Given the description of an element on the screen output the (x, y) to click on. 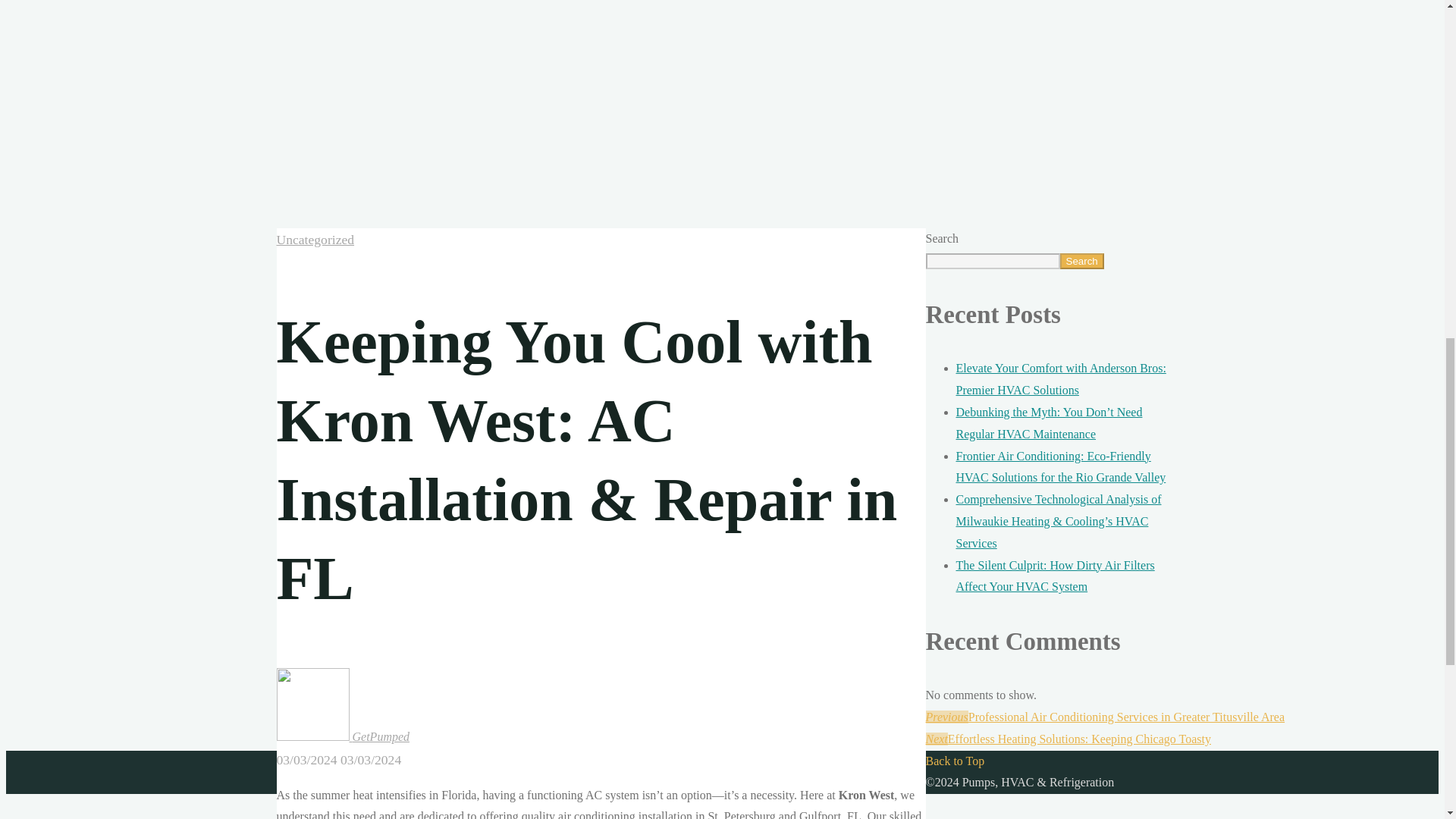
View all posts by GetPumped (342, 736)
Search (1081, 261)
GetPumped (342, 736)
Uncategorized (314, 239)
NextEffortless Heating Solutions: Keeping Chicago Toasty (1066, 738)
Back to Top (954, 760)
